Given the description of an element on the screen output the (x, y) to click on. 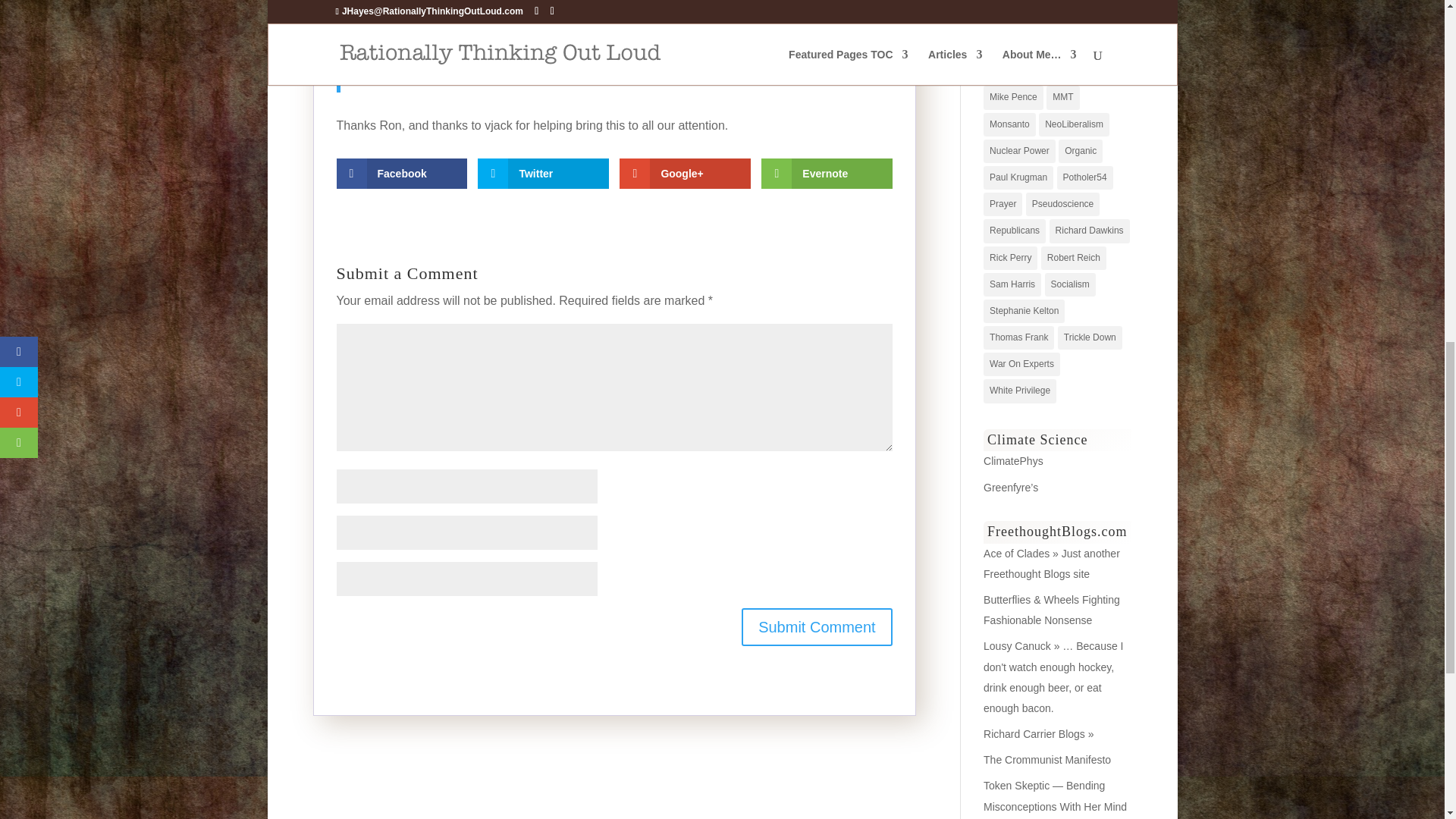
Submit Comment (816, 627)
An Analysis of Key Questions (1013, 460)
